Given the description of an element on the screen output the (x, y) to click on. 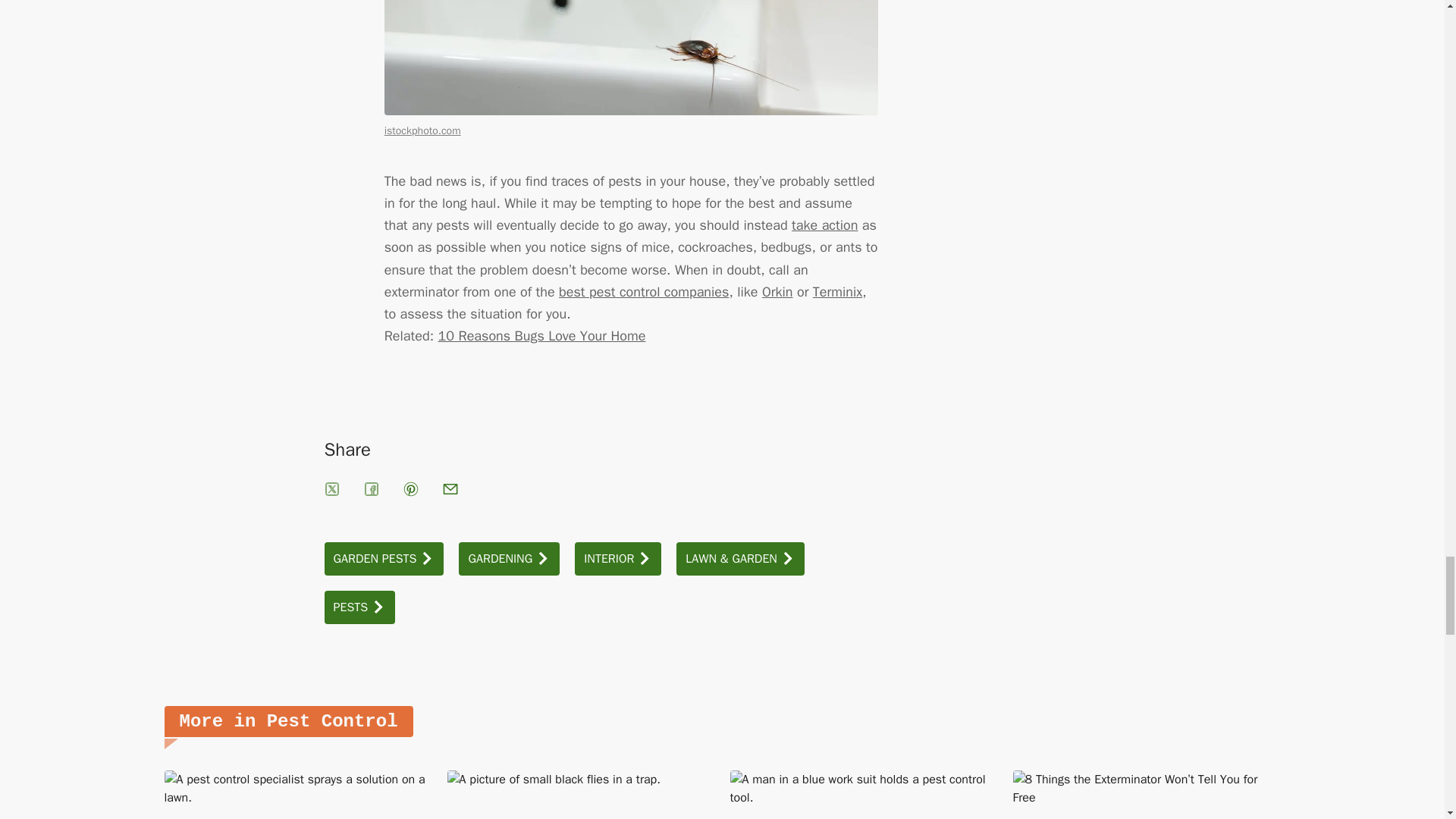
istockphoto.com (422, 130)
